Given the description of an element on the screen output the (x, y) to click on. 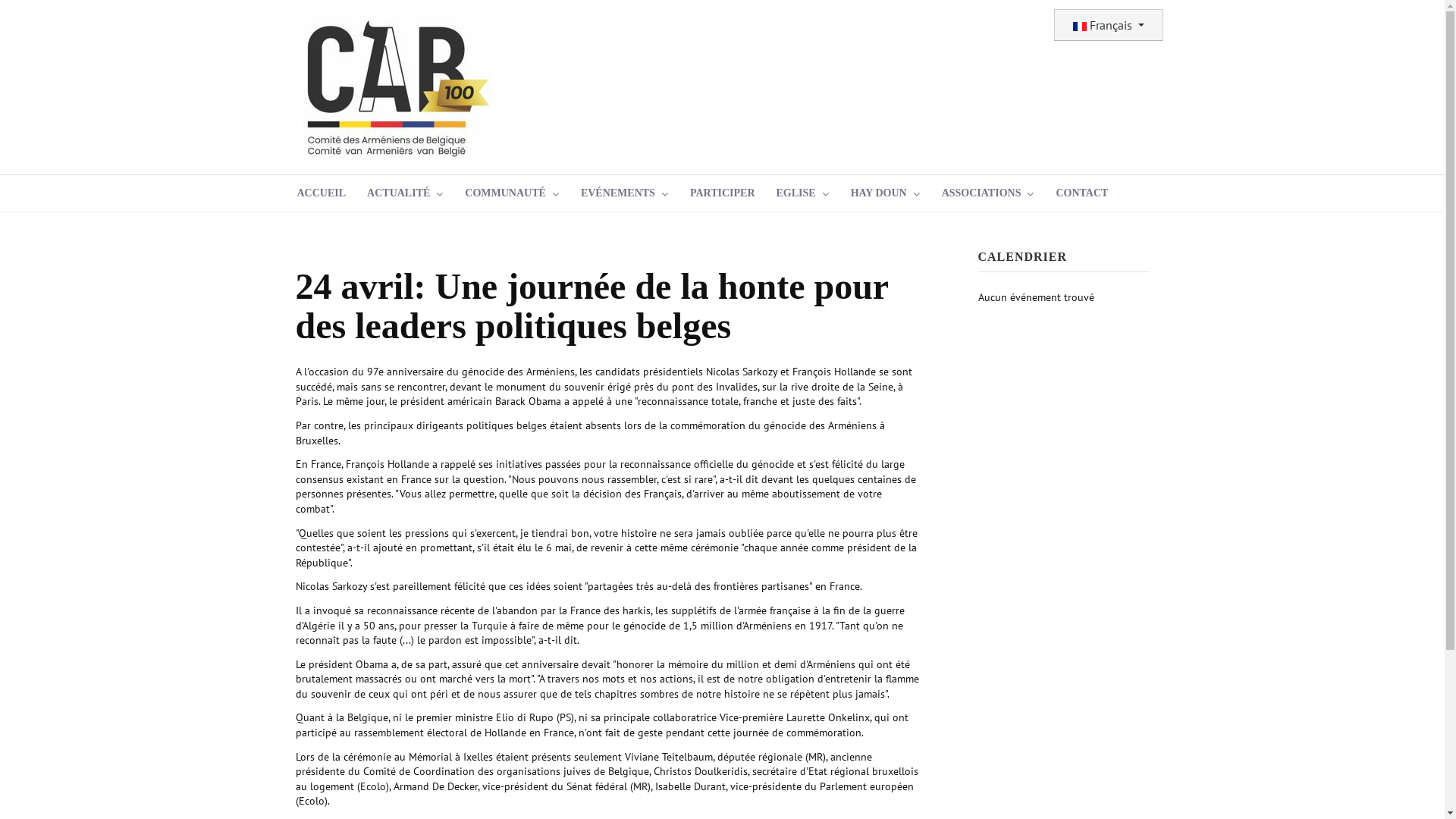
ASSOCIATIONS Element type: text (988, 193)
HAY DOUN Element type: text (885, 193)
PARTICIPER Element type: text (722, 193)
CONTACT Element type: text (1081, 193)
EGLISE Element type: text (803, 193)
ACCUEIL Element type: text (321, 193)
